Given the description of an element on the screen output the (x, y) to click on. 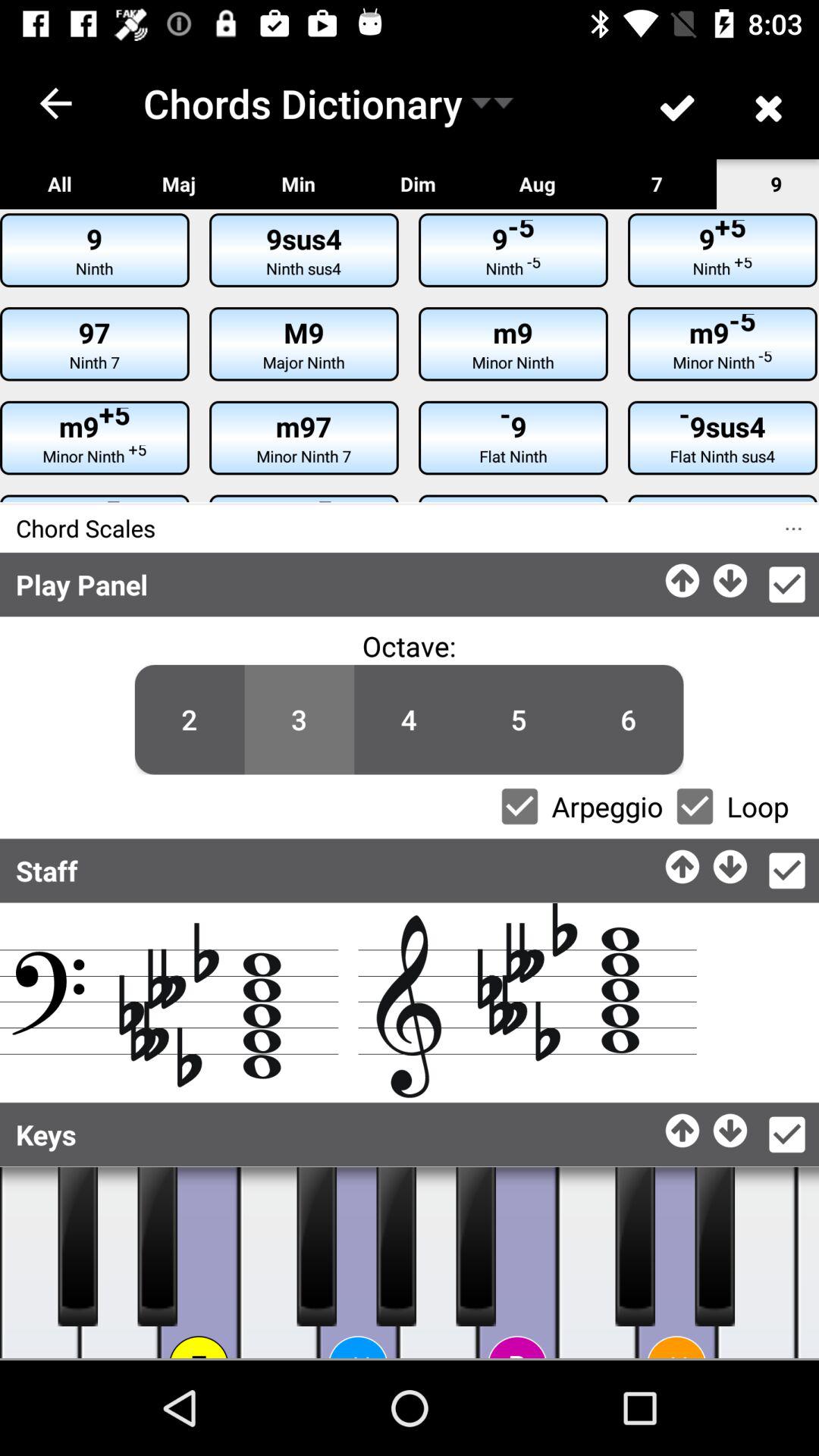
play note (278, 1262)
